Given the description of an element on the screen output the (x, y) to click on. 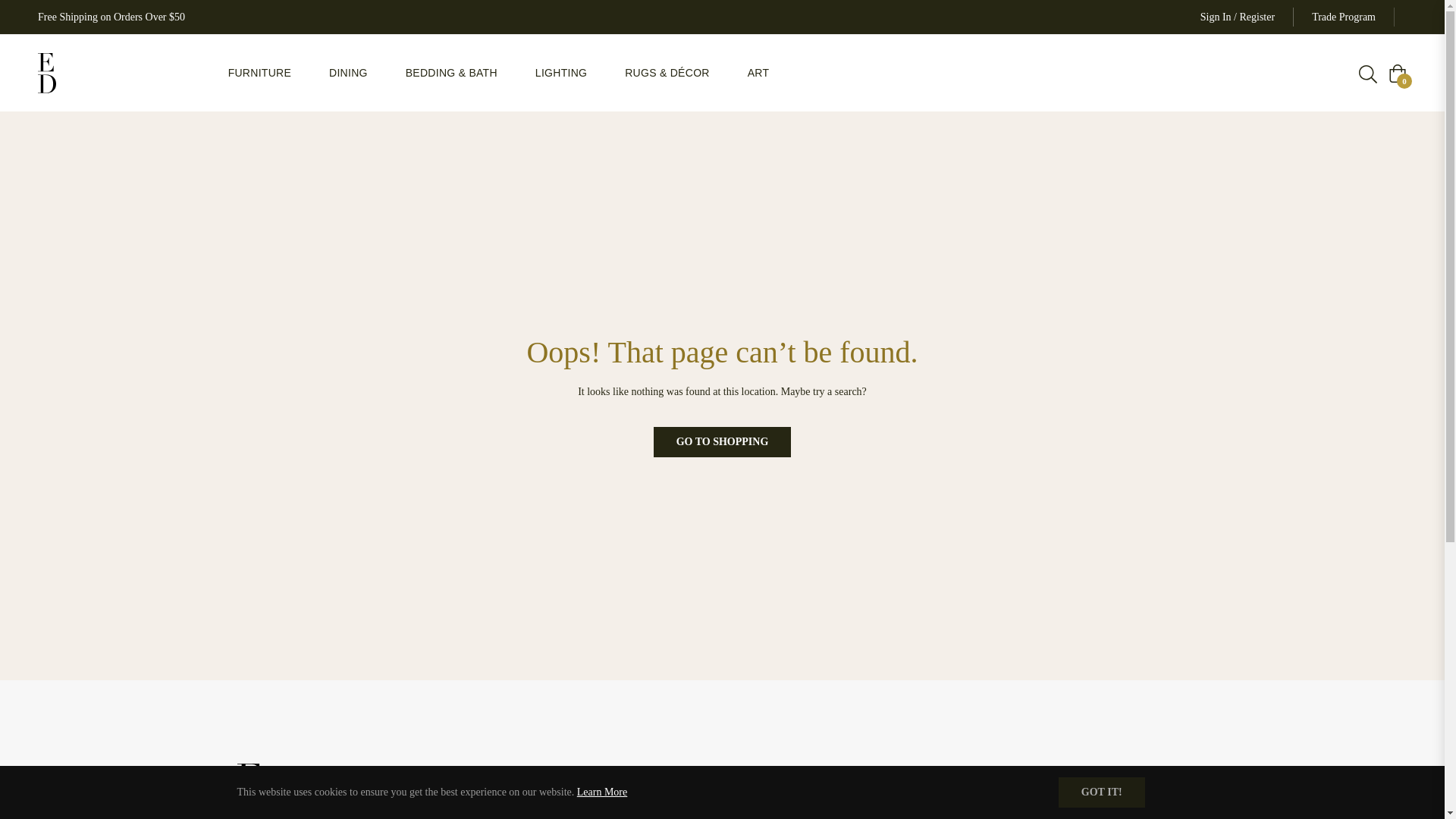
FURNITURE (259, 73)
Register (1257, 17)
Shopping Cart (1397, 73)
LIGHTING (560, 73)
Trade Program (1343, 16)
Sign In (1215, 17)
DINING (348, 73)
